Given the description of an element on the screen output the (x, y) to click on. 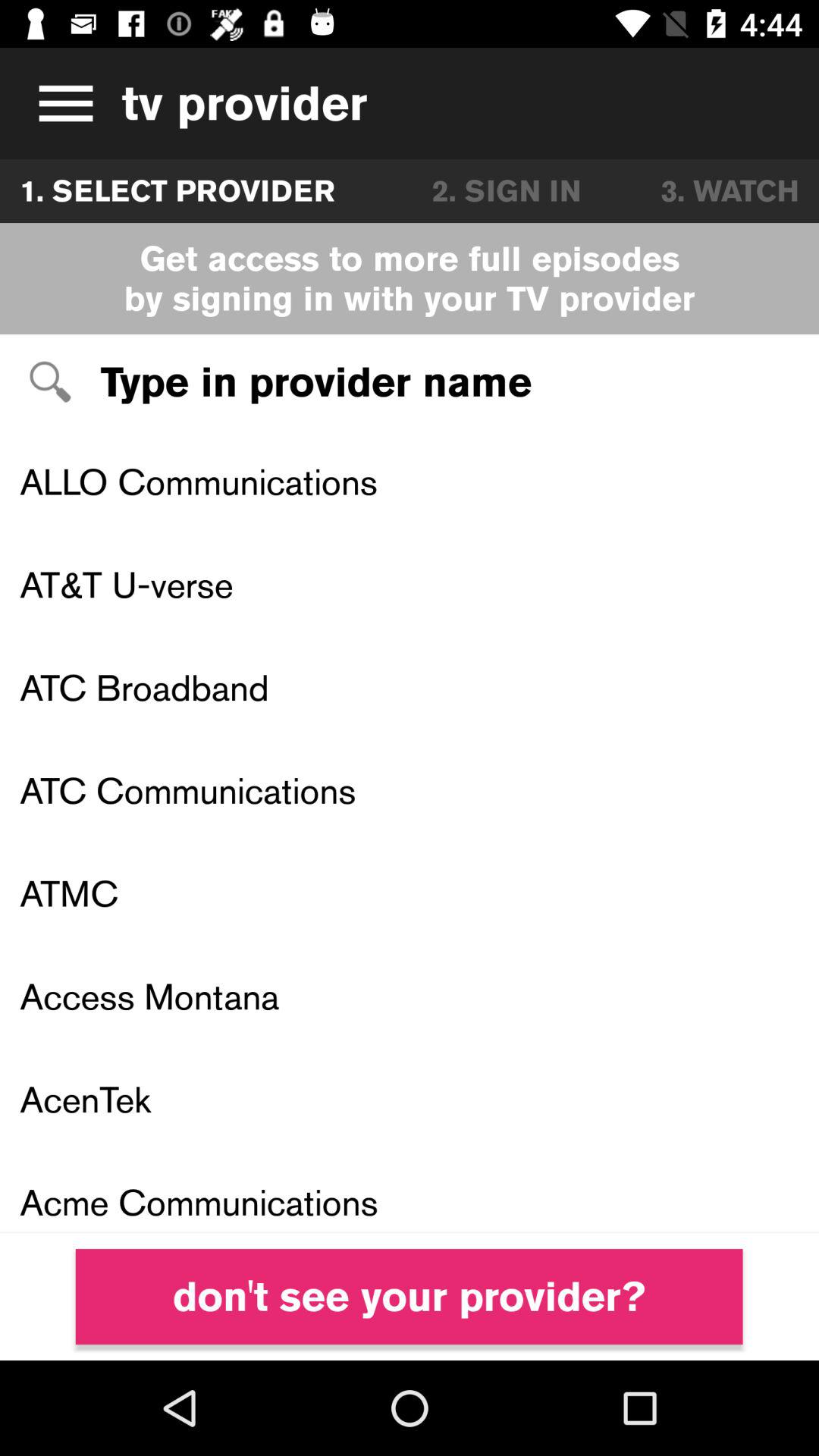
tap item above the 1. select provider icon (60, 103)
